Given the description of an element on the screen output the (x, y) to click on. 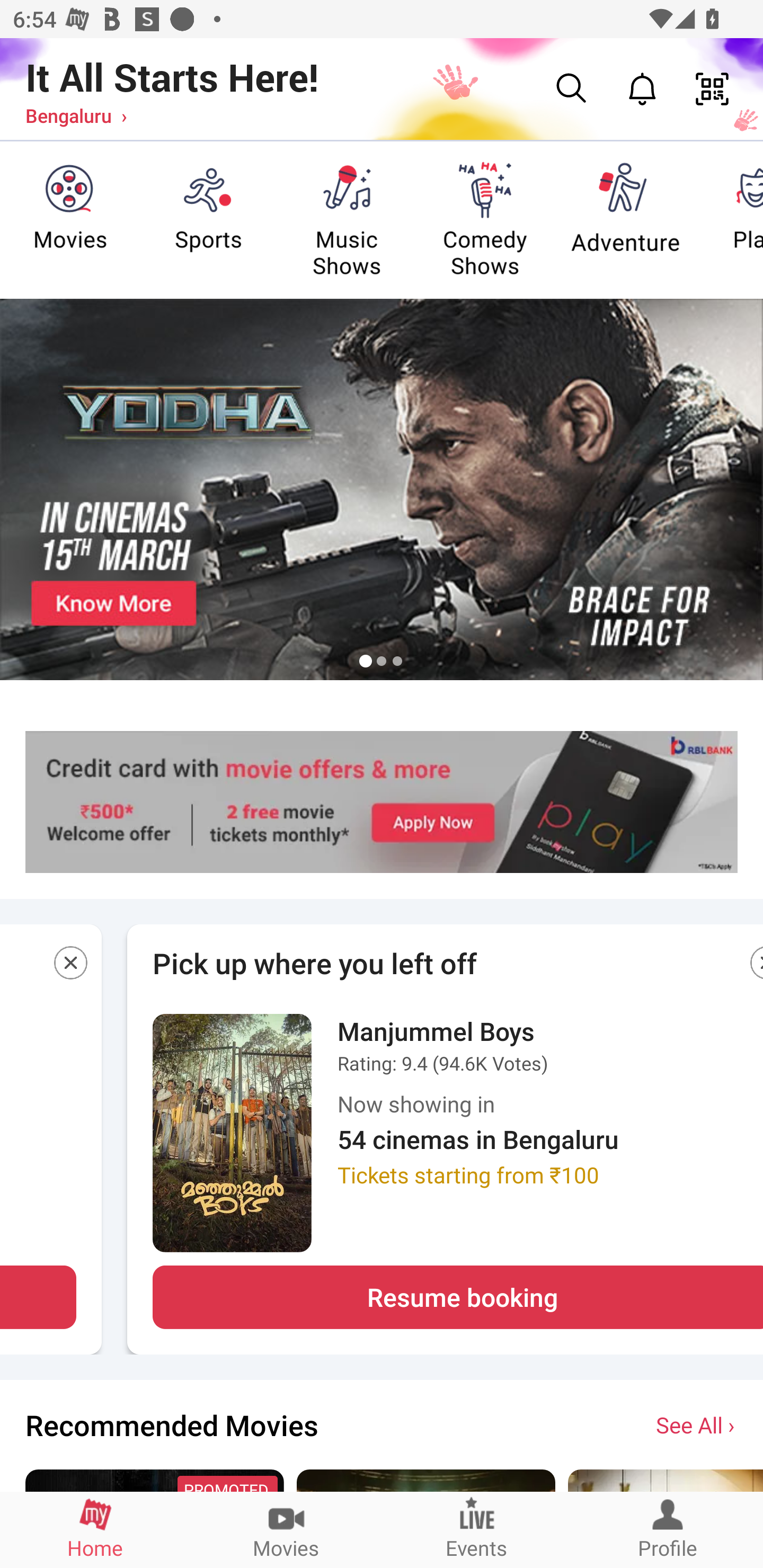
Bengaluru  › (76, 114)
  (71, 966)
Resume booking (457, 1297)
See All › (696, 1424)
Home (95, 1529)
Movies (285, 1529)
Events (476, 1529)
Profile (667, 1529)
